Given the description of an element on the screen output the (x, y) to click on. 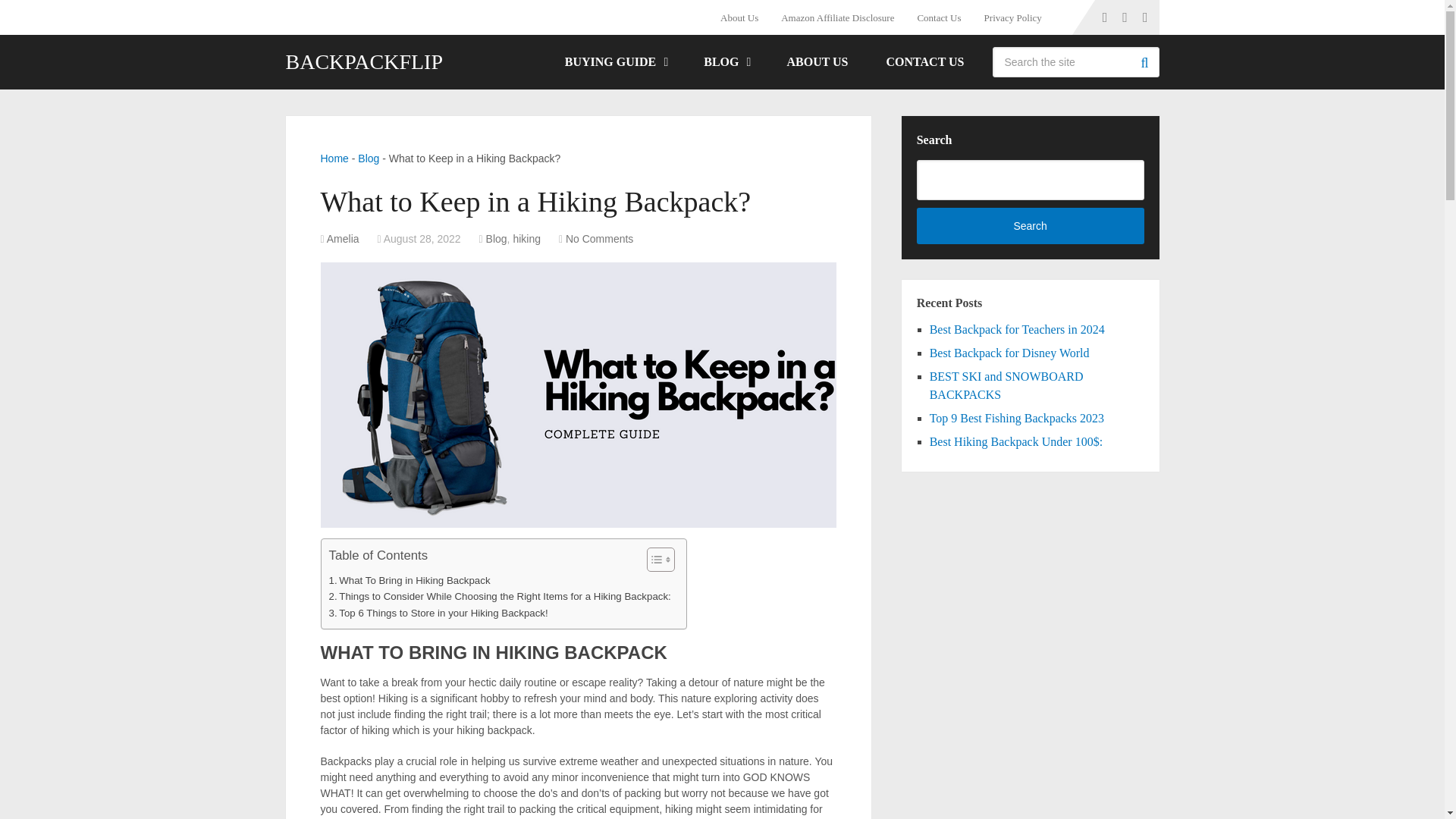
Posts by Amelia (342, 238)
BUYING GUIDE (615, 62)
BLOG (725, 62)
Privacy Policy (1012, 17)
Top 6 Things to Store in your Hiking Backpack! (438, 612)
Amelia (342, 238)
BACKPACKFLIP (363, 61)
Search (1143, 61)
